Given the description of an element on the screen output the (x, y) to click on. 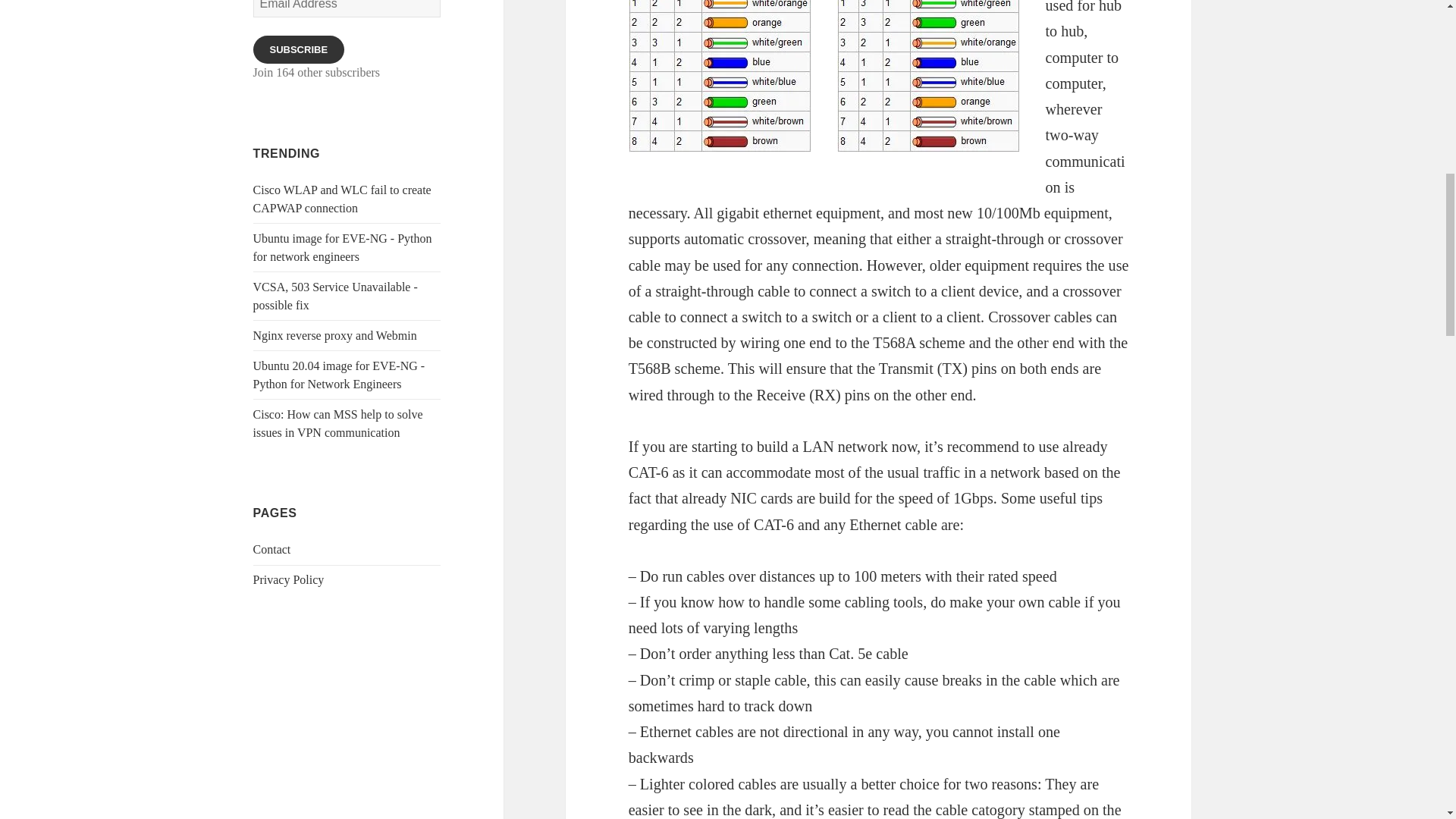
Ubuntu 20.04 image for EVE-NG - Python for Network Engineers (339, 374)
Ubuntu image for EVE-NG - Python for network engineers (342, 246)
Contact (272, 549)
Nginx reverse proxy and Webmin (334, 335)
Cisco: How can MSS help to solve issues in VPN communication (338, 422)
t586b-scheme (719, 76)
VCSA, 503 Service Unavailable - possible fix (335, 296)
Cisco WLAP and WLC fail to create CAPWAP connection (341, 198)
t586a-scheme (928, 75)
Privacy Policy (288, 579)
SUBSCRIBE (299, 49)
